Given the description of an element on the screen output the (x, y) to click on. 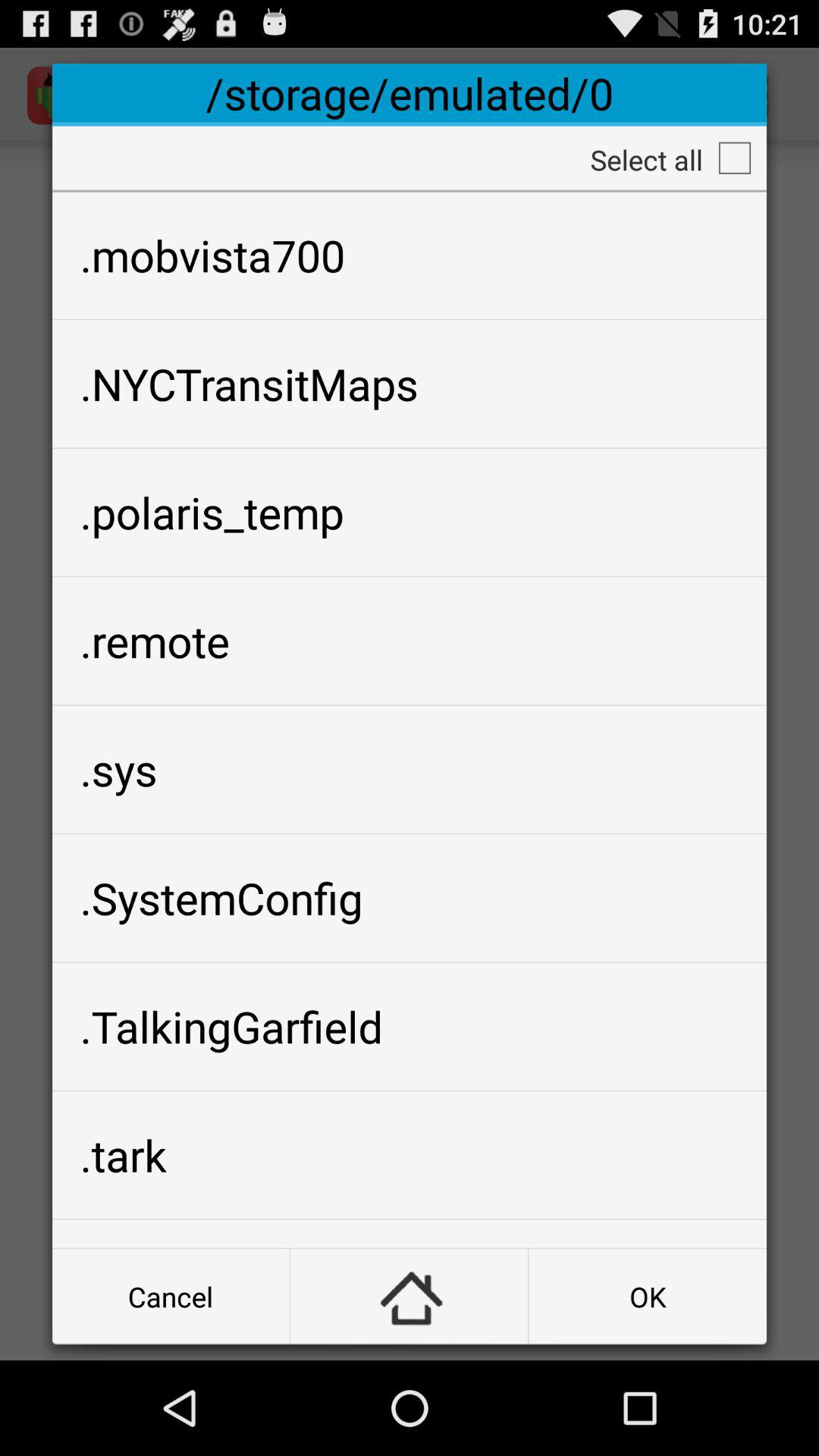
turn on the button at the bottom left corner (170, 1296)
